Given the description of an element on the screen output the (x, y) to click on. 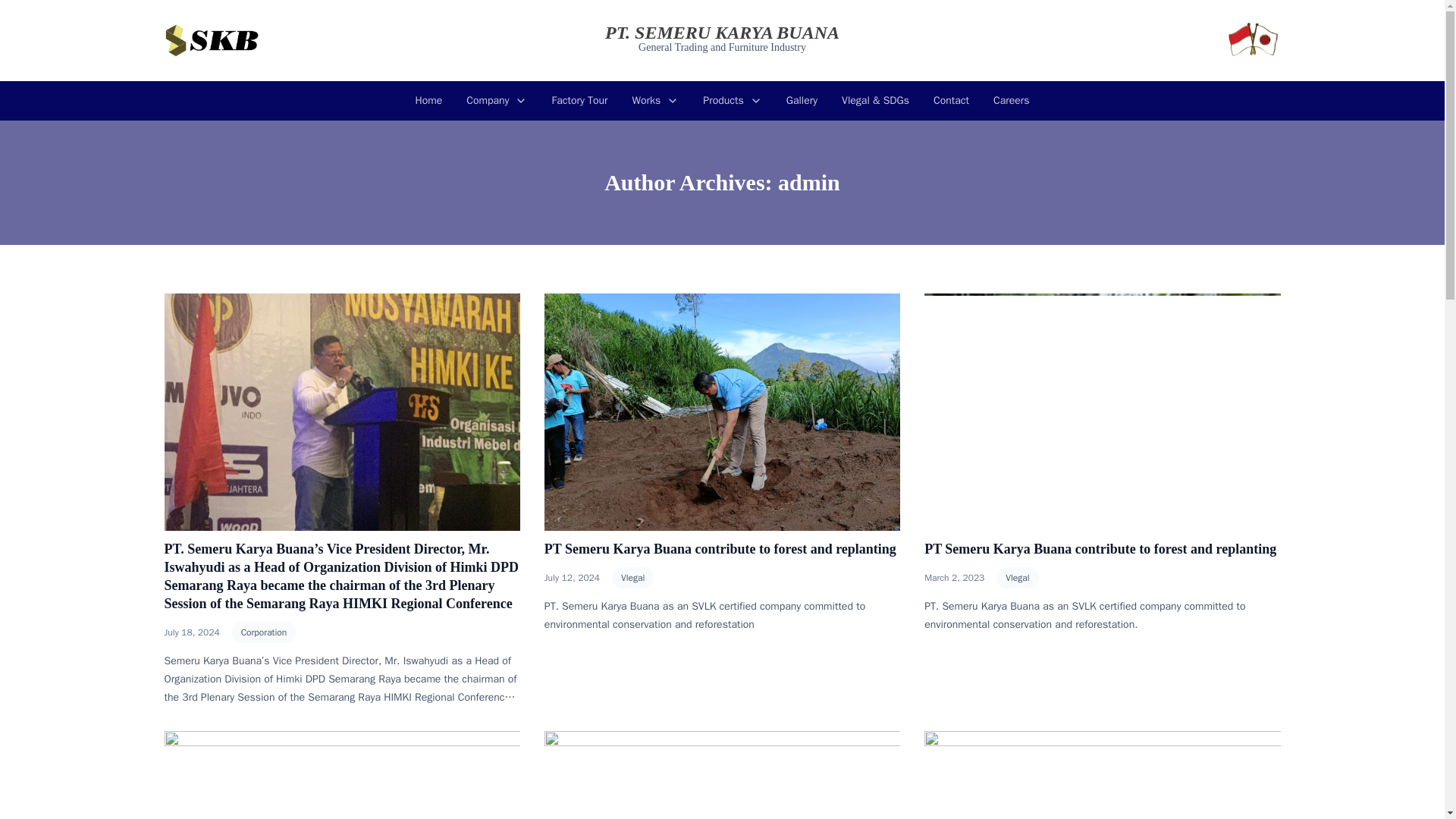
Careers (1010, 100)
Company (496, 100)
PT Semeru Karya Buana contribute to forest and replanting (720, 548)
PT. SEMERU KARYA BUANA (722, 32)
March 2, 2023 (954, 577)
Vlegal (1016, 577)
Corporation (264, 631)
Products (732, 100)
Factory Tour (579, 100)
Vlegal (632, 577)
